Given the description of an element on the screen output the (x, y) to click on. 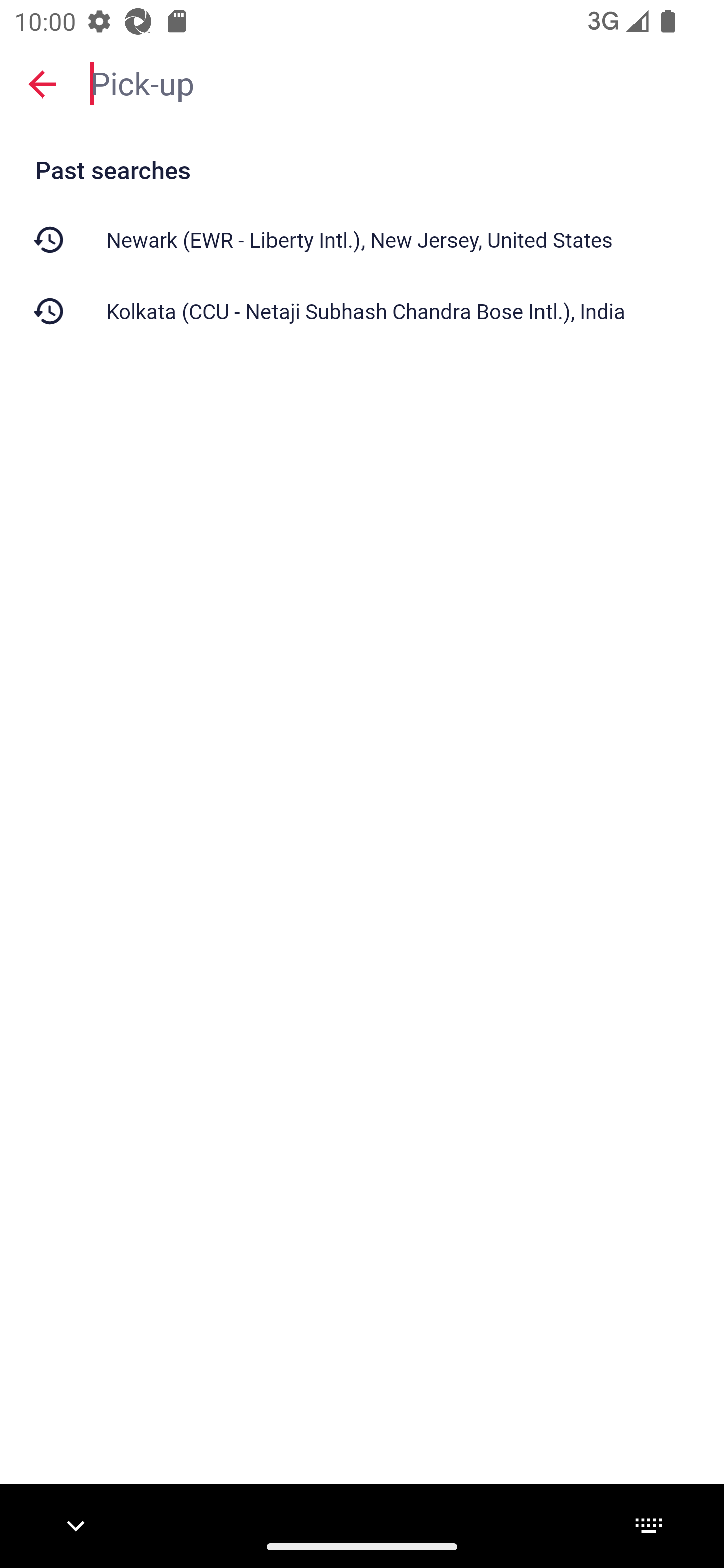
Pick-up,  (397, 82)
Close search screen (41, 83)
